Given the description of an element on the screen output the (x, y) to click on. 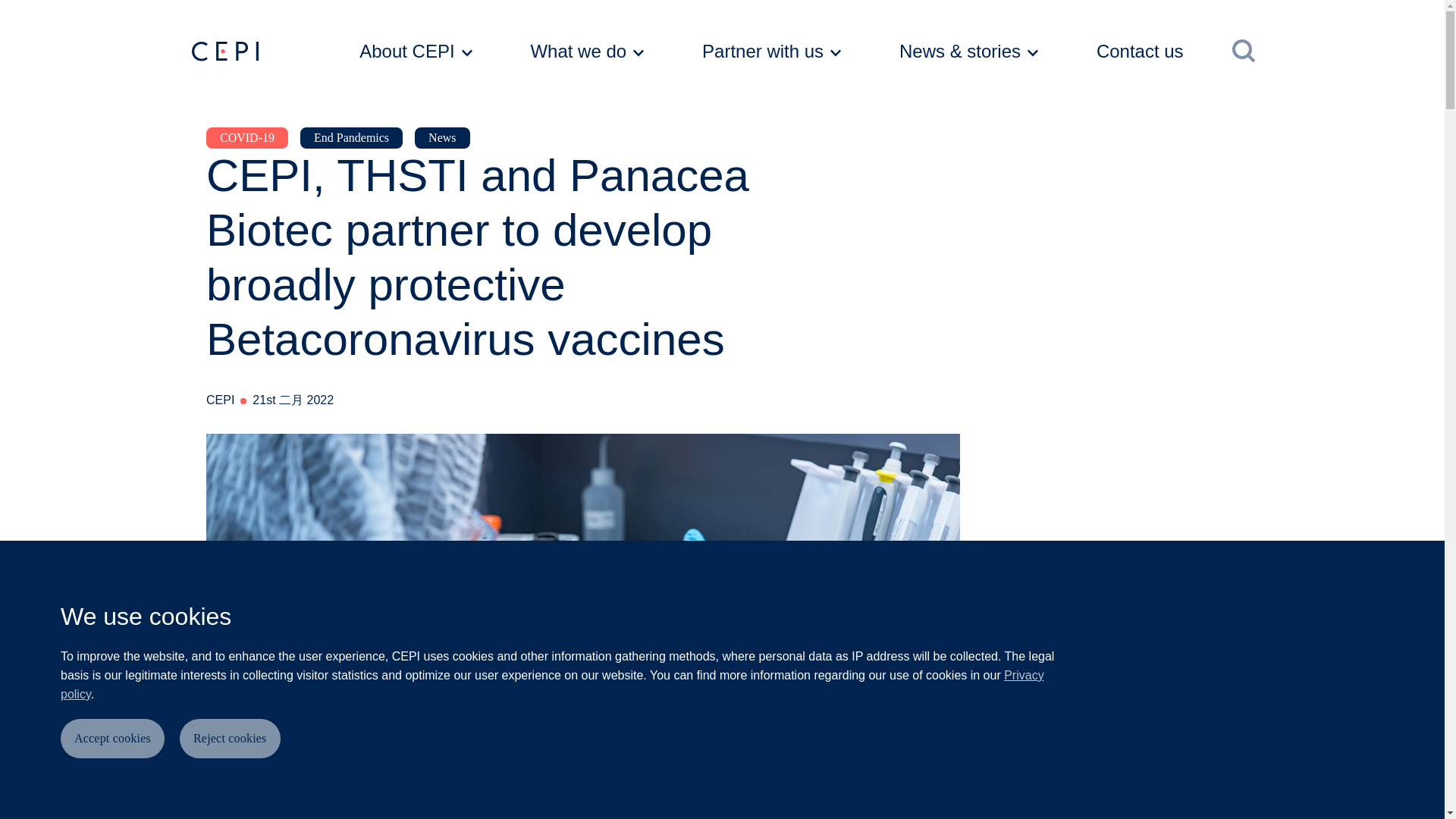
CEPI (223, 51)
About CEPI (415, 51)
Partner with us (771, 51)
What we do (587, 51)
CEPI (265, 51)
Contact us (1156, 51)
